Given the description of an element on the screen output the (x, y) to click on. 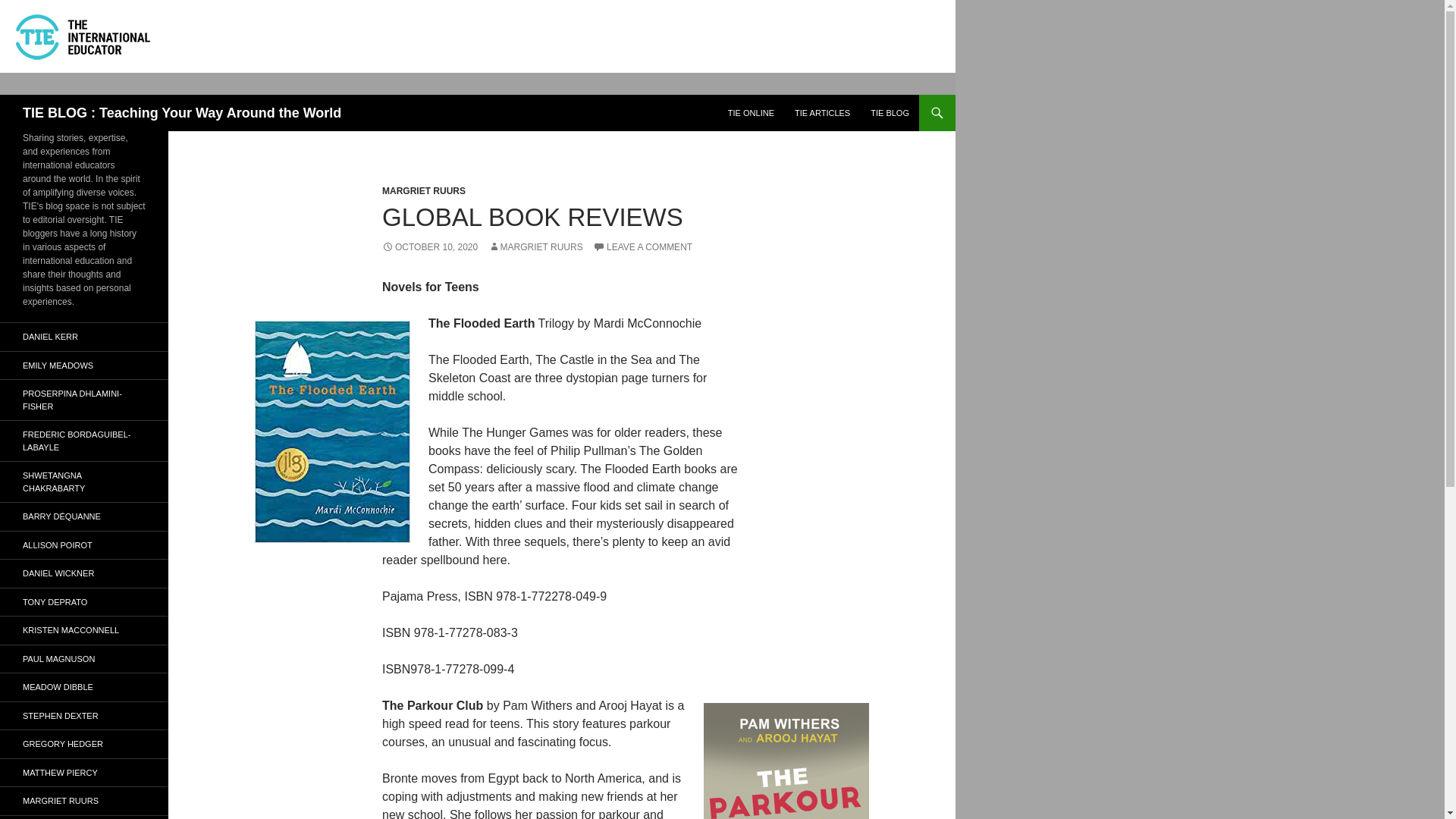
GREGORY HEDGER (84, 744)
ALLISON POIROT (84, 544)
SHWETANGNA CHAKRABARTY (84, 481)
PROSERPINA DHLAMINI-FISHER (84, 400)
TIE BLOG (889, 113)
KRISTEN MACCONNELL (84, 630)
TIE ONLINE (751, 113)
DANIEL KERR (84, 336)
GLOBAL BOOK REVIEWS (531, 216)
MEADOW DIBBLE (84, 687)
FREDERIC BORDAGUIBEL-LABAYLE (84, 440)
NICHOLAS ALCHIN (84, 817)
MARGRIET RUURS (423, 190)
